Given the description of an element on the screen output the (x, y) to click on. 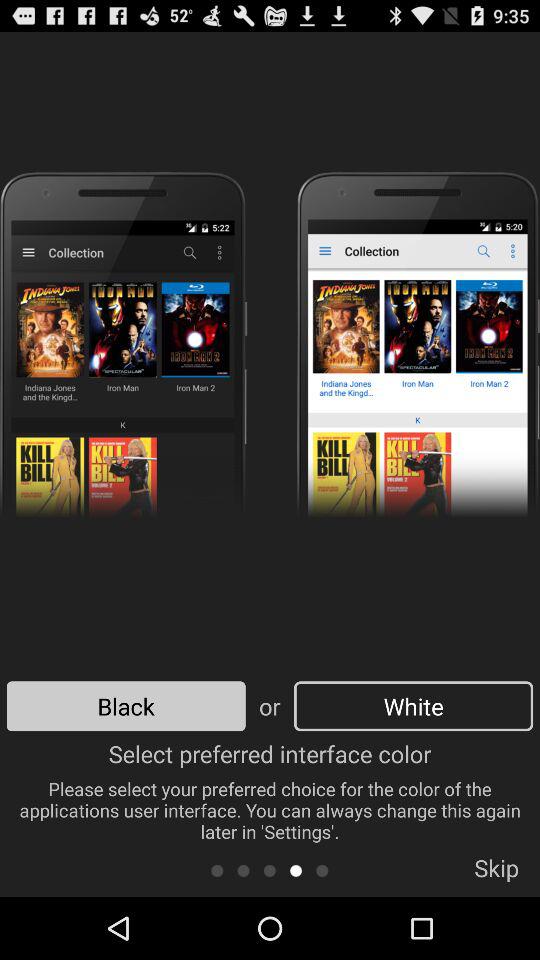
next page (321, 870)
